Given the description of an element on the screen output the (x, y) to click on. 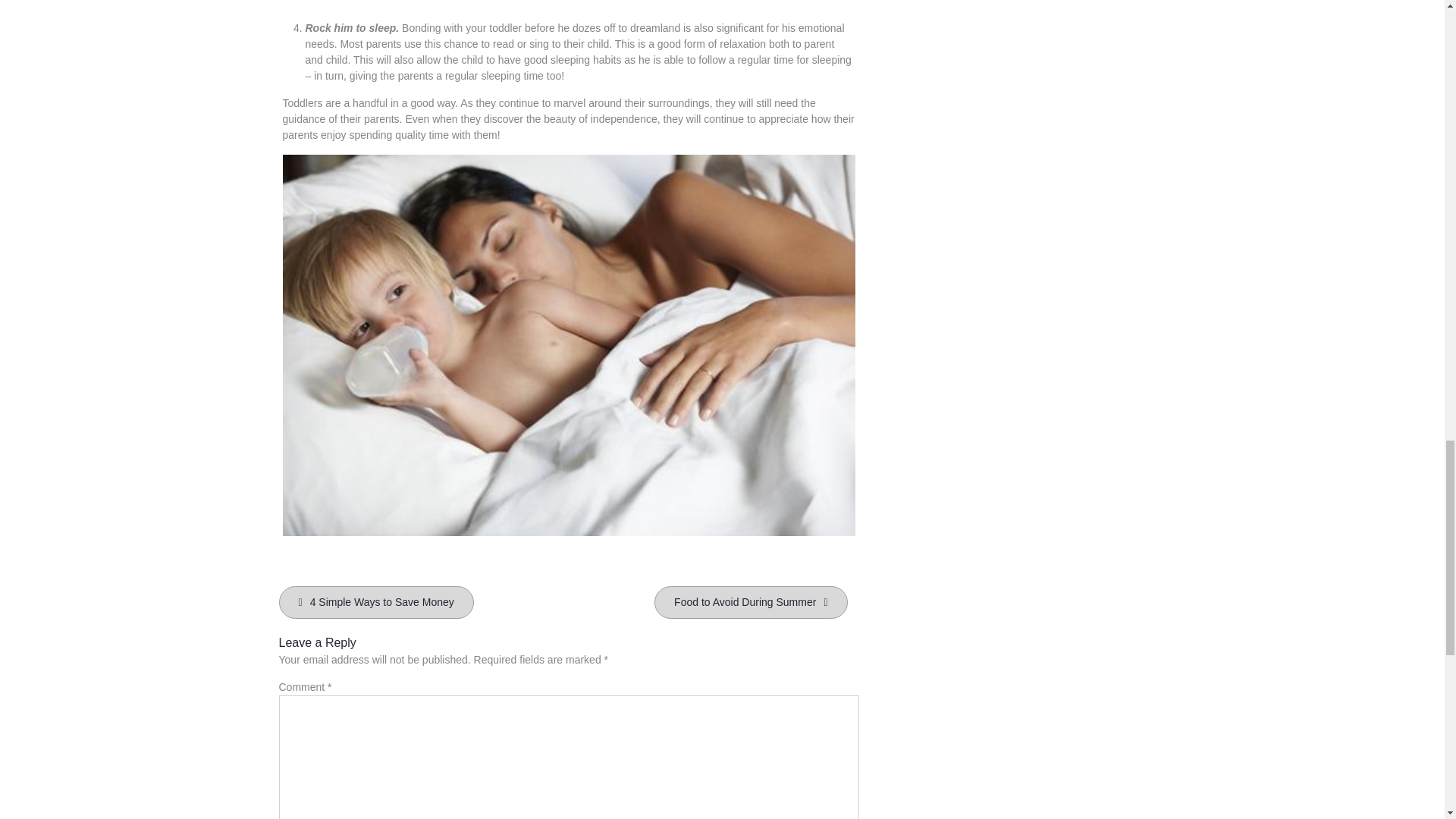
4 Simple Ways to Save Money (376, 602)
Food to Avoid During Summer (750, 602)
